Given the description of an element on the screen output the (x, y) to click on. 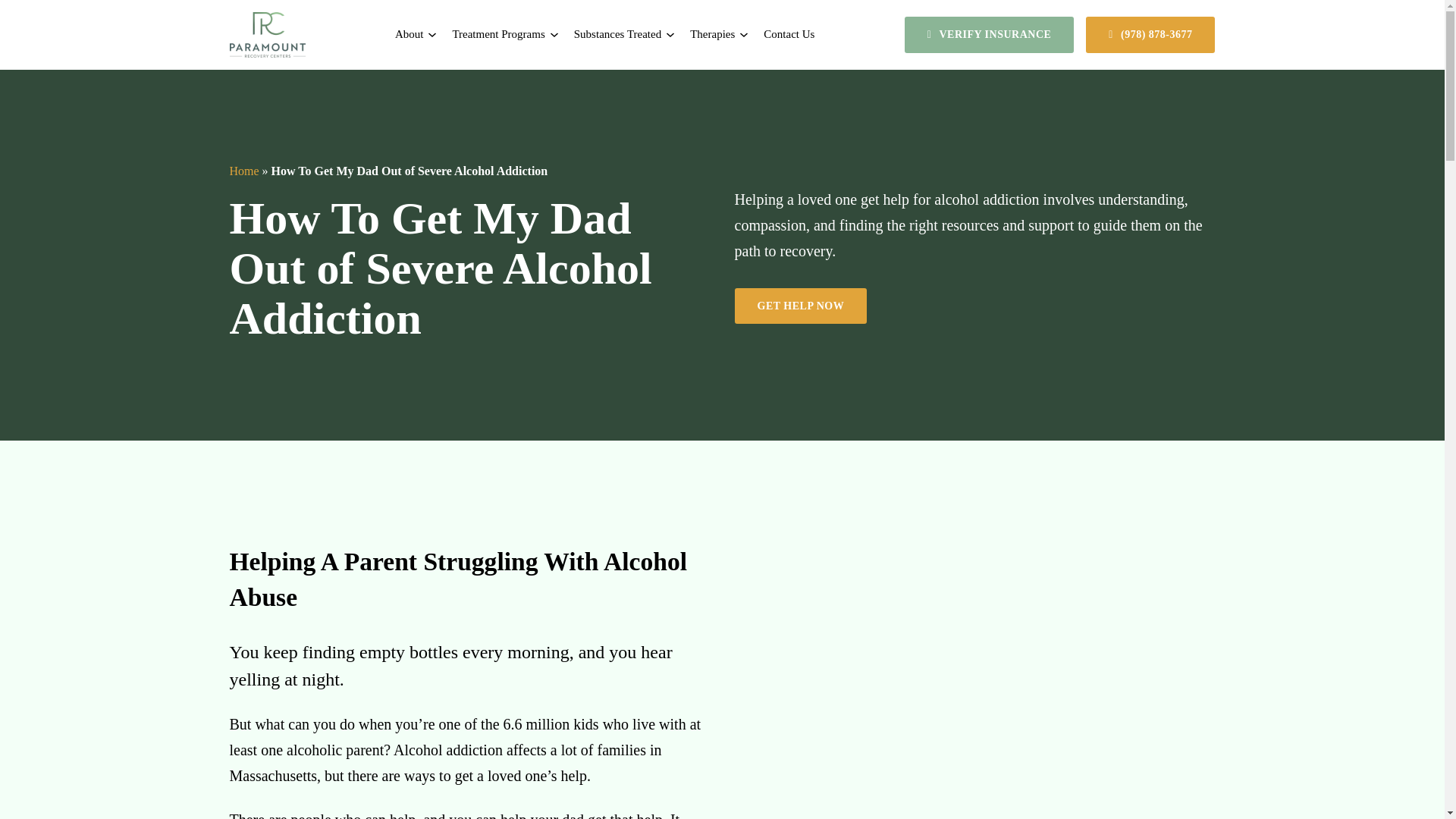
Substances Treated (617, 34)
Therapies (712, 34)
Treatment Programs (497, 34)
